Given the description of an element on the screen output the (x, y) to click on. 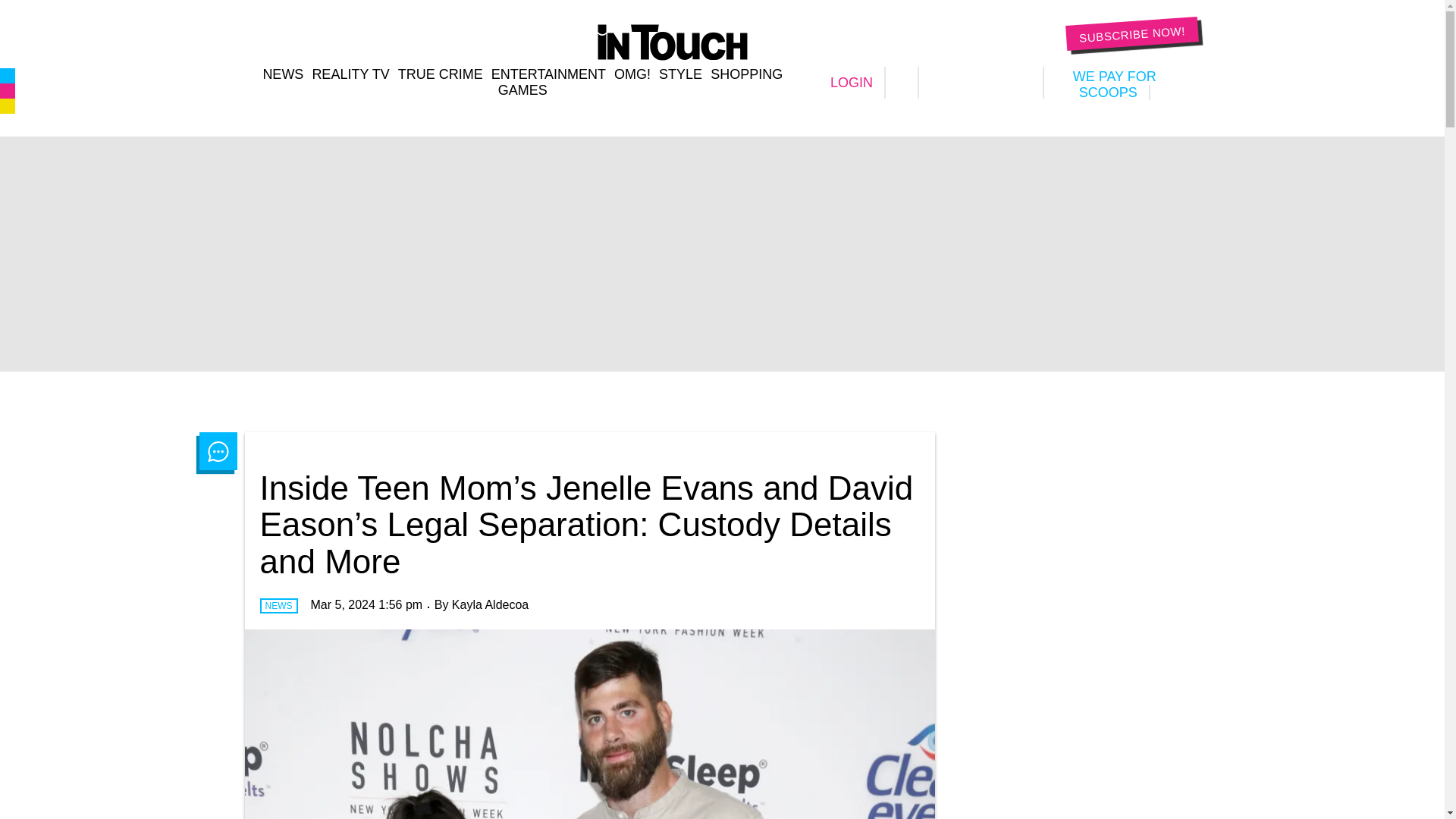
REALITY TV (349, 73)
Posts by Kayla Aldecoa (489, 604)
NEWS (282, 73)
TRUE CRIME (440, 73)
